Given the description of an element on the screen output the (x, y) to click on. 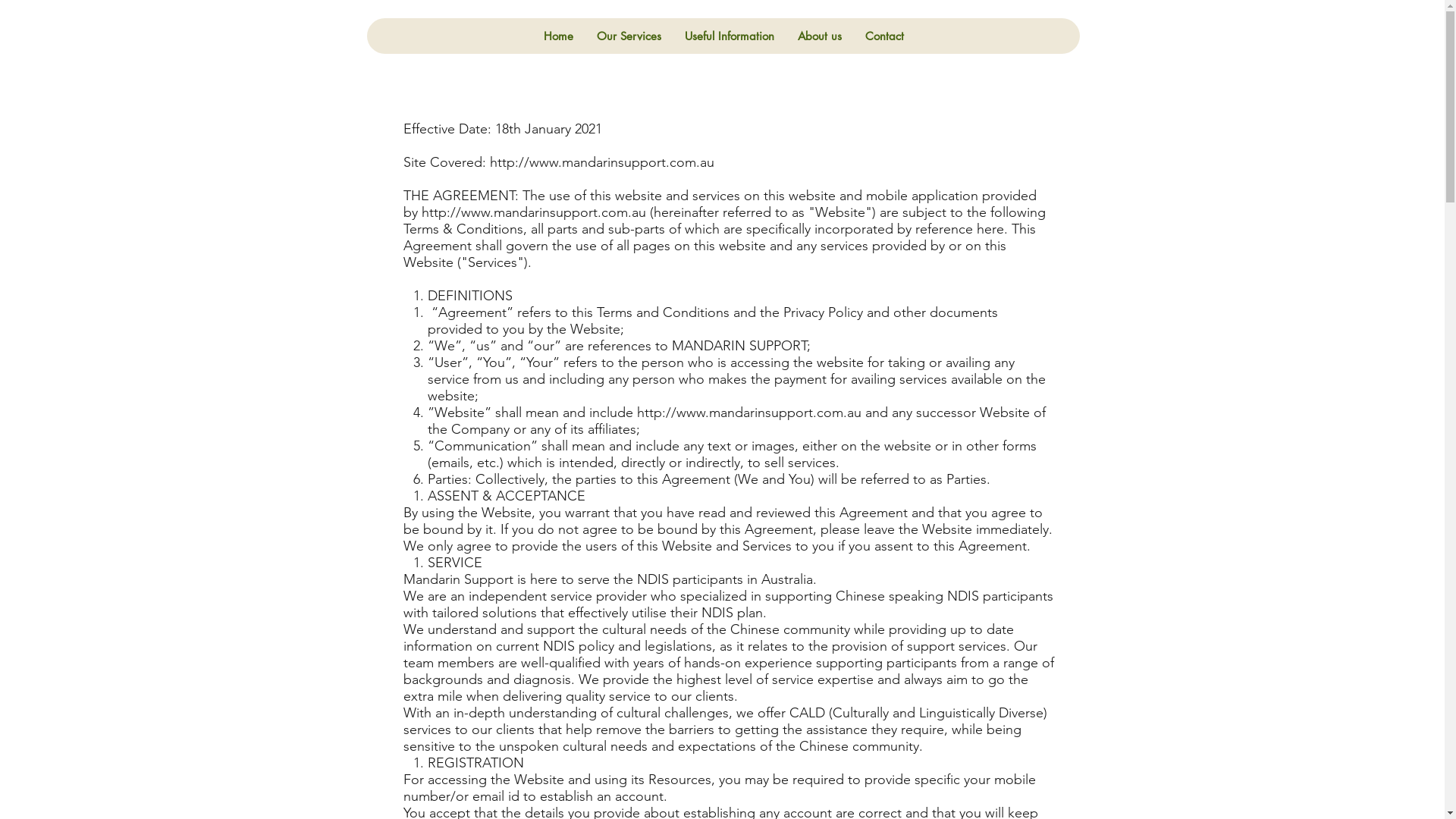
About us Element type: text (819, 35)
Home Element type: text (557, 35)
Contact Element type: text (884, 35)
Our Services Element type: text (628, 35)
Useful Information Element type: text (728, 35)
http://www.mandarinsupport.com.au Element type: text (601, 161)
http://www.mandarinsupport.com.au Element type: text (749, 412)
http://www.mandarinsupport.com.au Element type: text (533, 211)
